Given the description of an element on the screen output the (x, y) to click on. 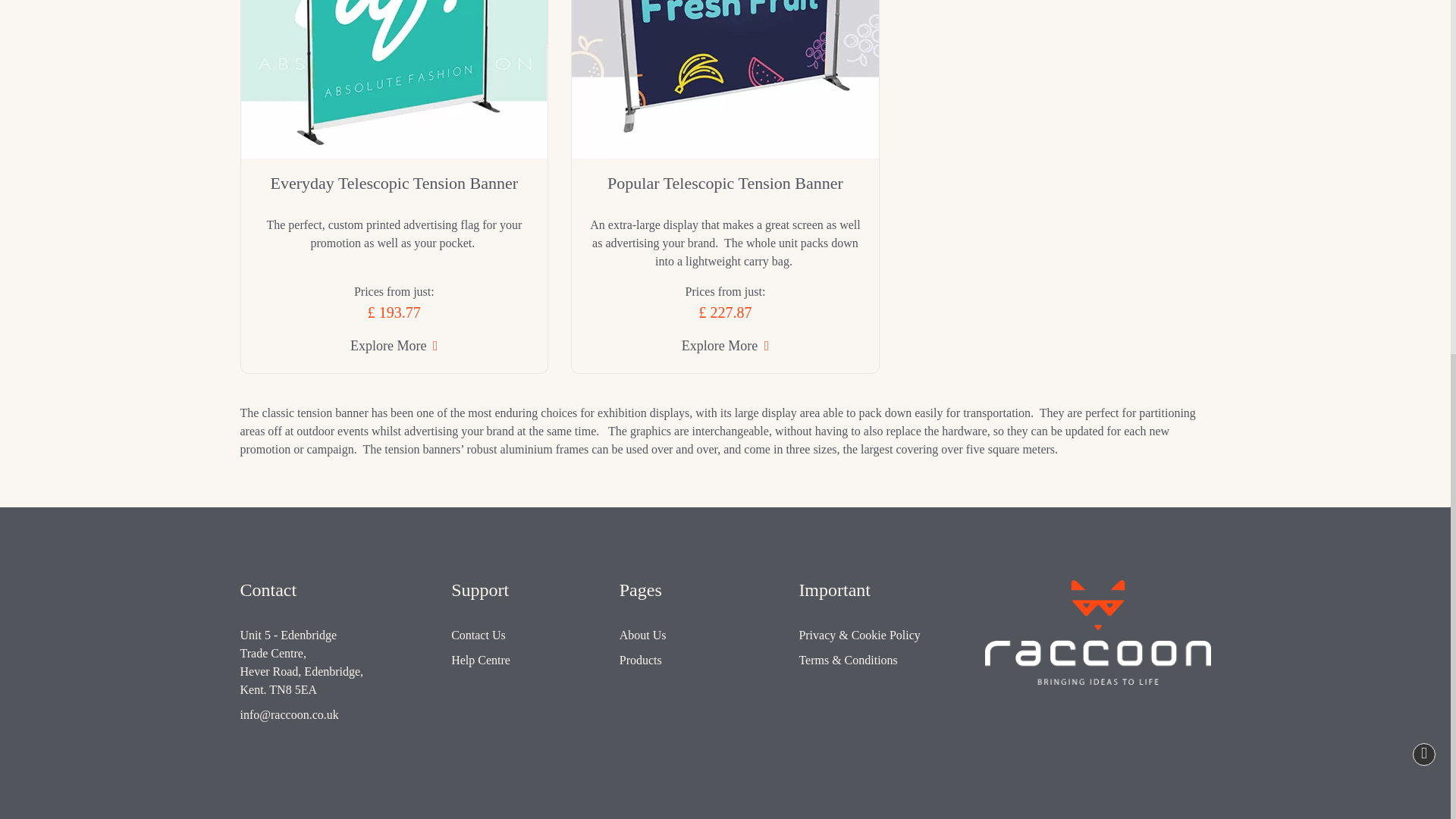
Everyday Telescopic Tension Banner (394, 79)
Popular Telescopic Tension Banner (725, 79)
